Given the description of an element on the screen output the (x, y) to click on. 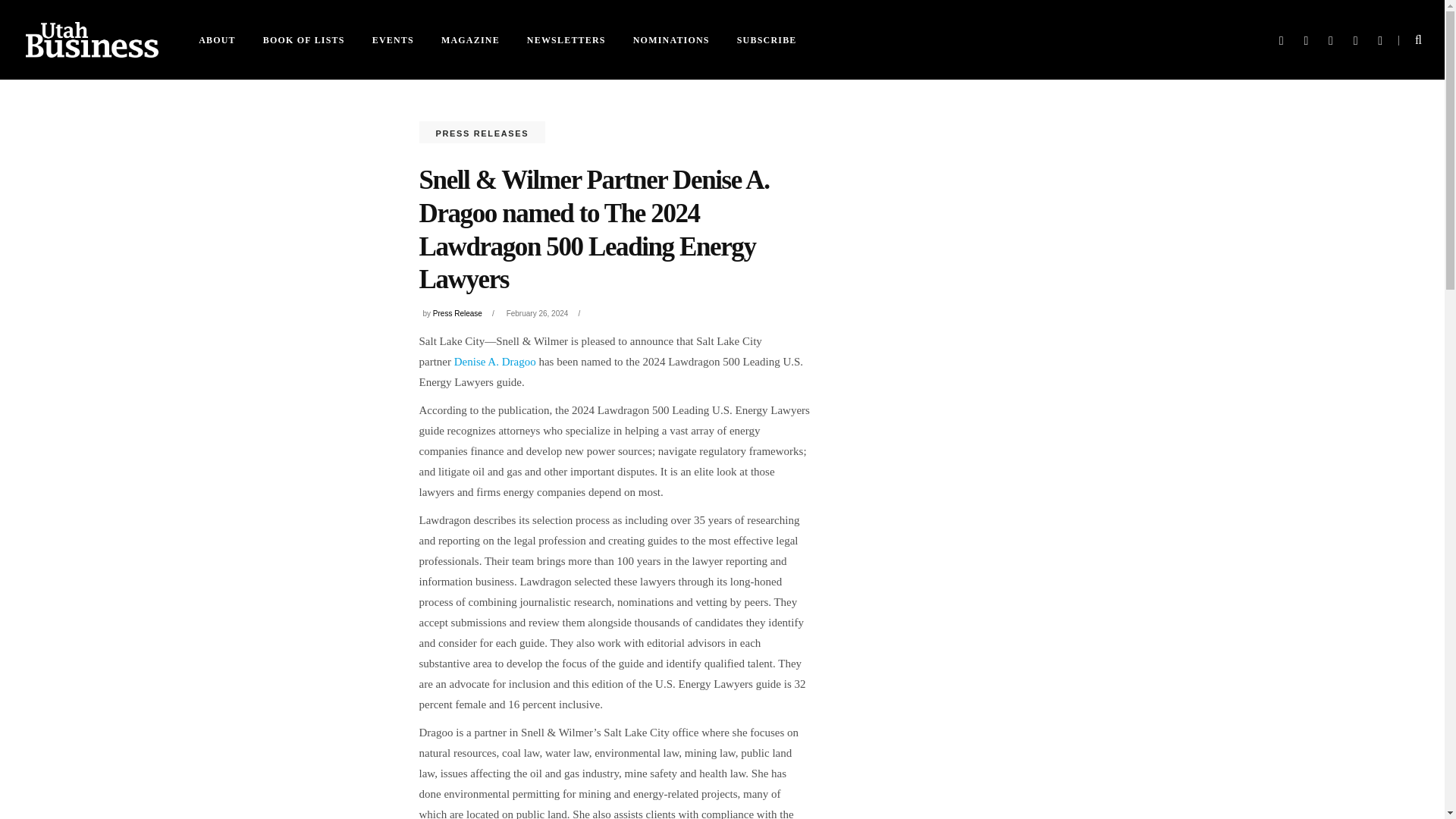
SUBSCRIBE (766, 39)
BOOK OF LISTS (303, 39)
NOMINATIONS (671, 39)
February 26, 2024 (537, 313)
Denise A. Dragoo (494, 361)
MAGAZINE (470, 39)
PRESS RELEASES (481, 133)
NEWSLETTERS (566, 39)
Press Release (456, 313)
